Given the description of an element on the screen output the (x, y) to click on. 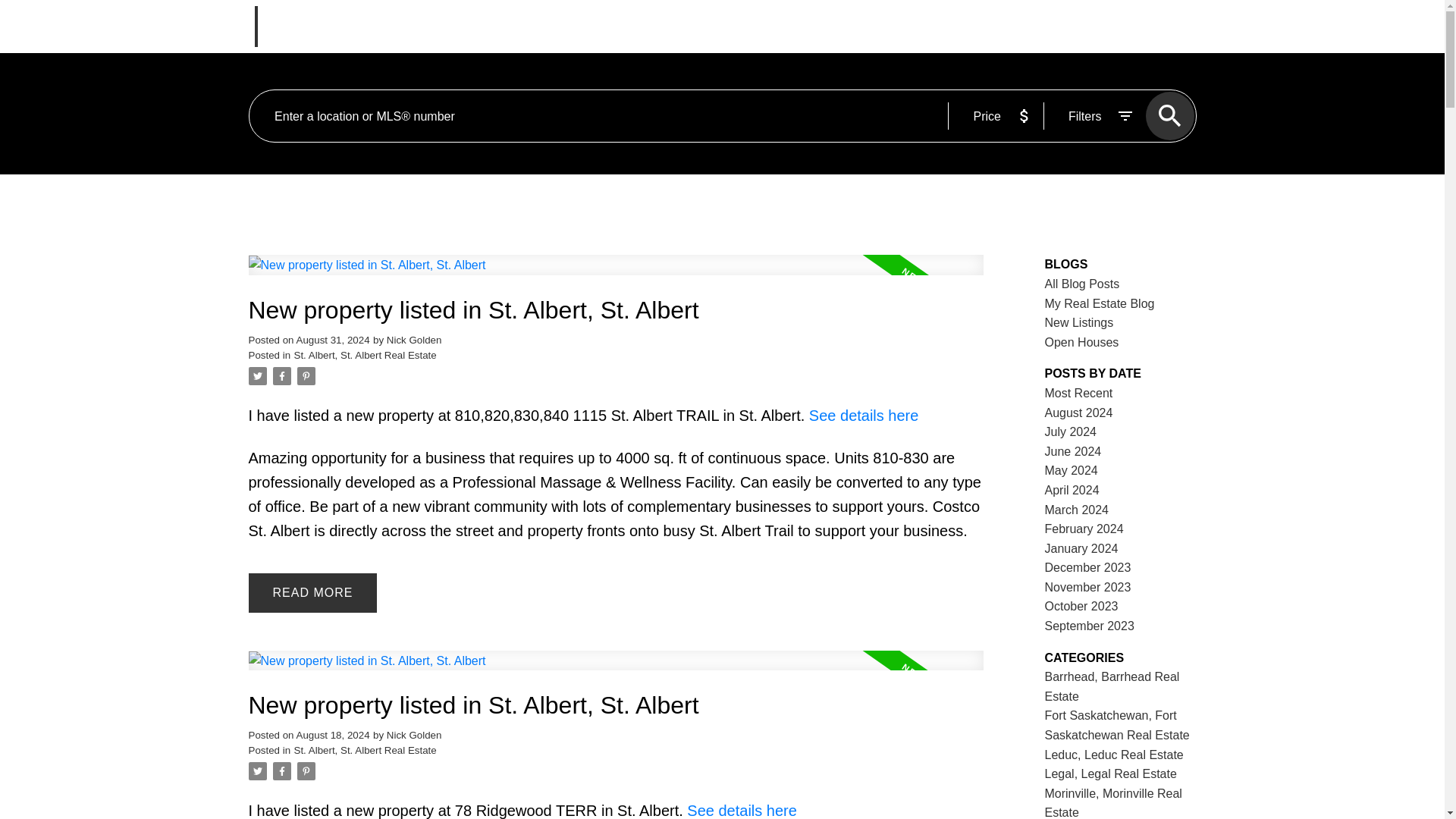
HOME (479, 25)
New property listed in St. Albert, St. Albert (616, 310)
Read full post (616, 273)
See details here (863, 415)
EMAIL (1086, 25)
BLOG (804, 25)
TESTIMONIALS (885, 25)
Read full post (616, 669)
780-498-6437 (1154, 25)
St. Albert, St. Albert Real Estate (365, 355)
